Given the description of an element on the screen output the (x, y) to click on. 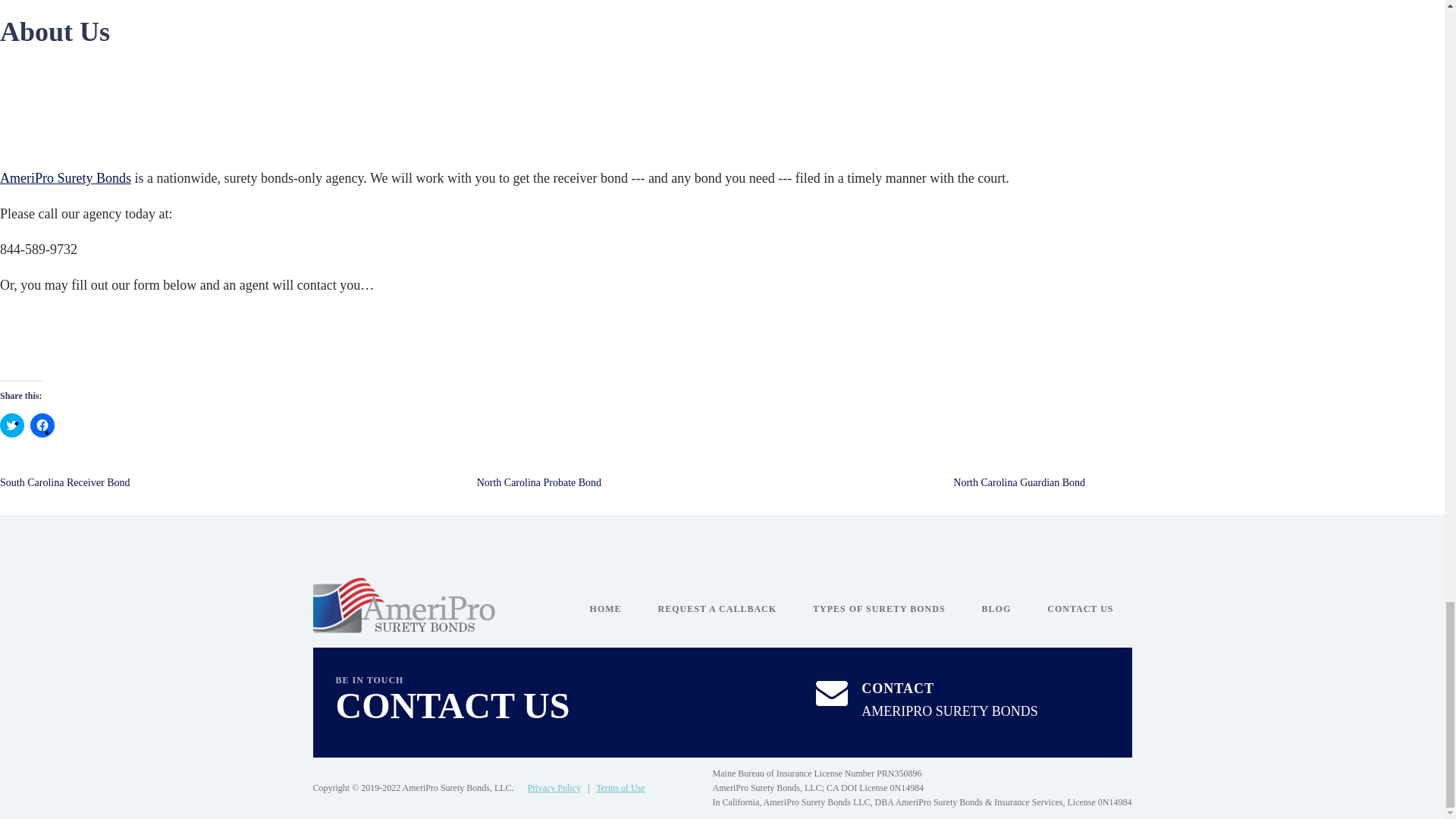
North Carolina Guardian Bond (1018, 482)
Click to share on Facebook (42, 425)
South Carolina Receiver Bond (64, 482)
REQUEST A CALLBACK (717, 608)
North Carolina Probate Bond (539, 482)
TYPES OF SURETY BONDS (878, 608)
BLOG (996, 608)
CONTACT US (1080, 608)
Privacy Policy (553, 787)
AmeriPro Surety Bonds (65, 177)
